Given the description of an element on the screen output the (x, y) to click on. 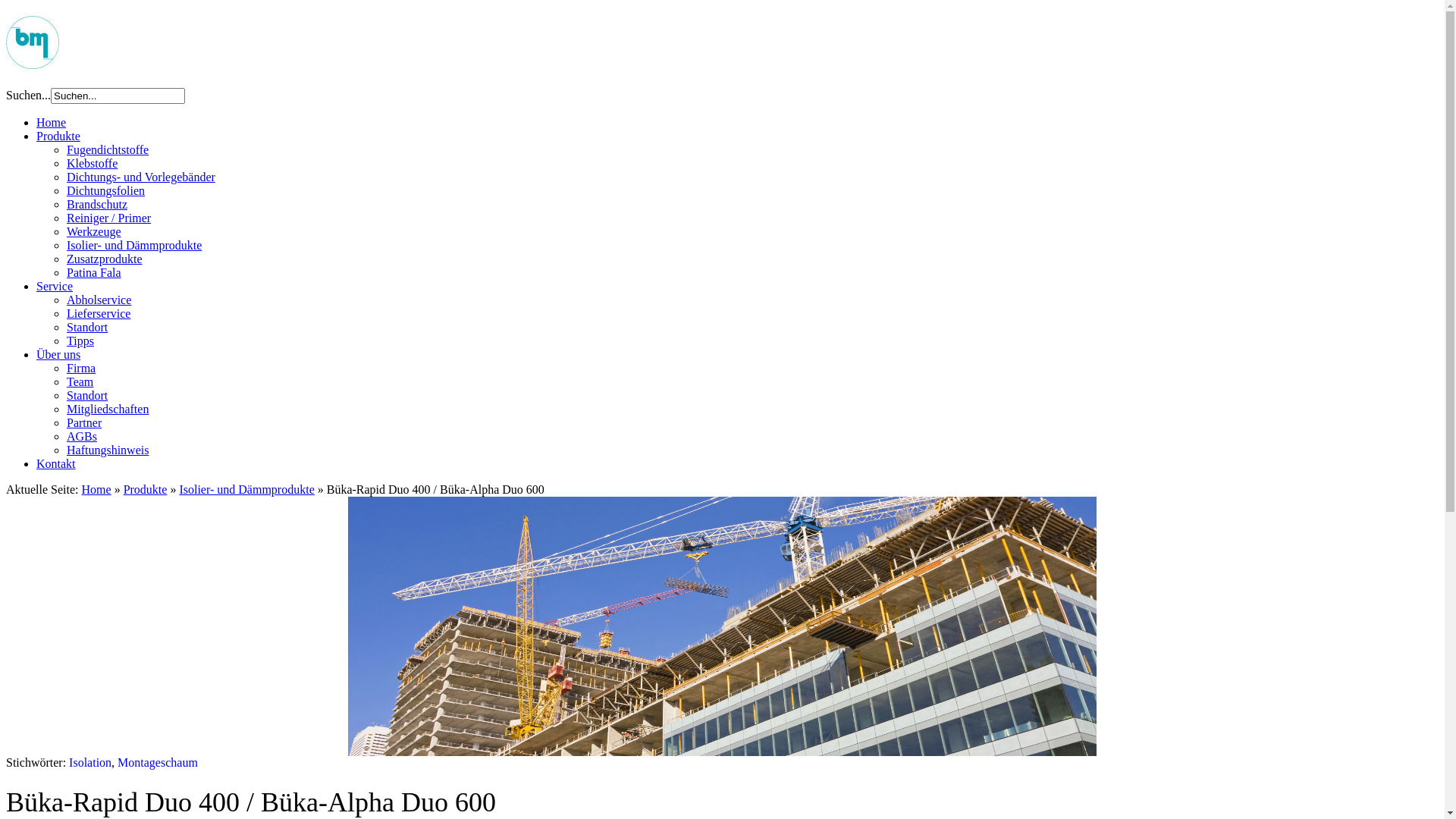
Fugendichtstoffe Element type: text (107, 149)
Klebstoffe Element type: text (91, 162)
Abholservice Element type: text (98, 299)
Kontakt Element type: text (55, 463)
Brandschutz Element type: text (96, 203)
Tipps Element type: text (80, 340)
Lieferservice Element type: text (98, 313)
Mitgliedschaften Element type: text (107, 408)
Werkzeuge Element type: text (93, 231)
Home Element type: text (50, 122)
Isolation Element type: text (90, 762)
Zusatzprodukte Element type: text (104, 258)
Standort Element type: text (86, 326)
Home Element type: text (96, 489)
Dichtungsfolien Element type: text (105, 190)
Team Element type: text (79, 381)
Patina Fala Element type: text (93, 272)
Reiniger / Primer Element type: text (108, 217)
Haftungshinweis Element type: text (107, 449)
Standort Element type: text (86, 395)
AGBs Element type: text (81, 435)
Firma Element type: text (80, 367)
Montageschaum Element type: text (157, 762)
Produkte Element type: text (145, 489)
Partner Element type: text (83, 422)
Produkte Element type: text (58, 135)
Service Element type: text (54, 285)
